Given the description of an element on the screen output the (x, y) to click on. 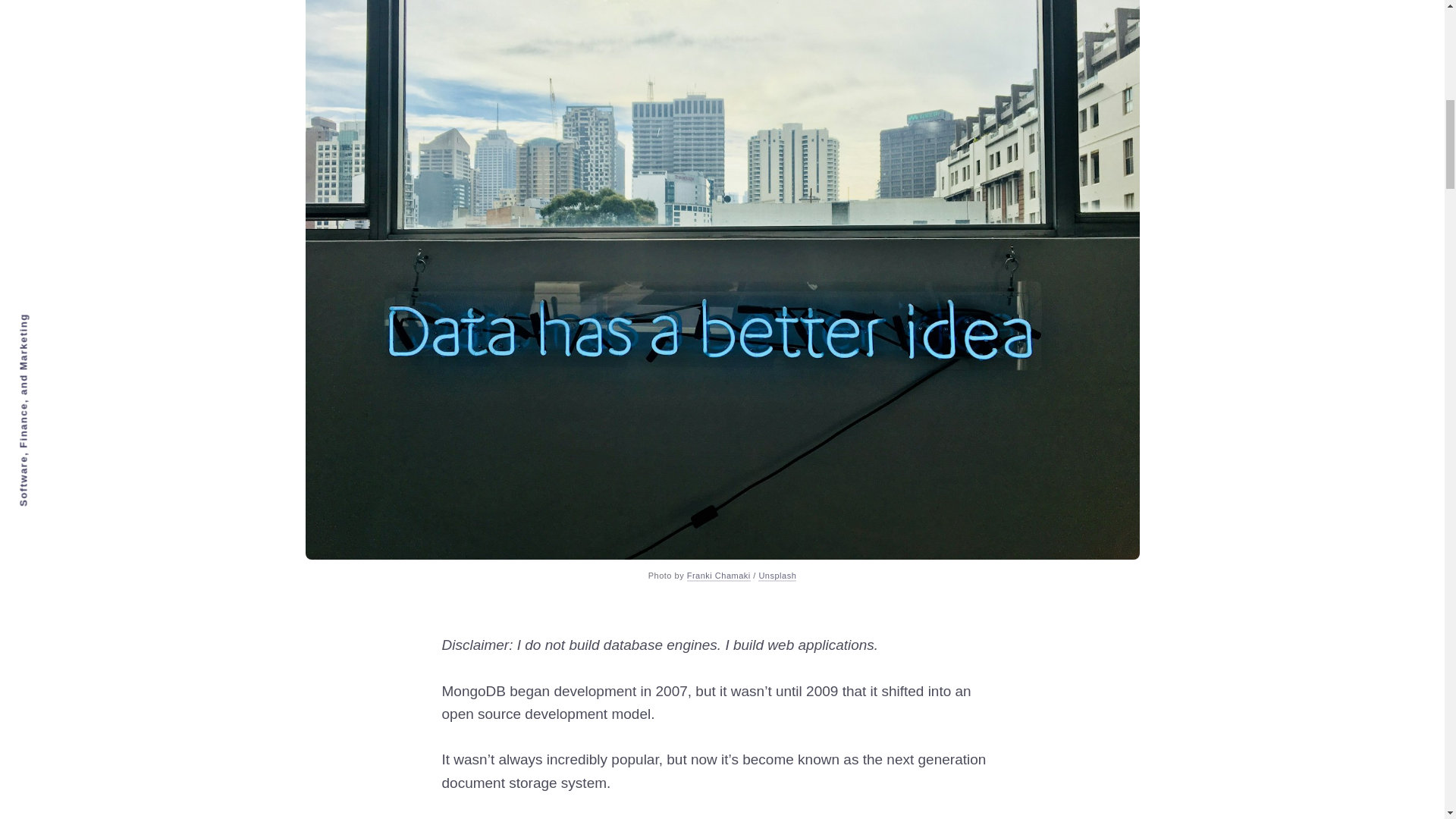
Unsplash (777, 575)
Franki Chamaki (719, 575)
